Given the description of an element on the screen output the (x, y) to click on. 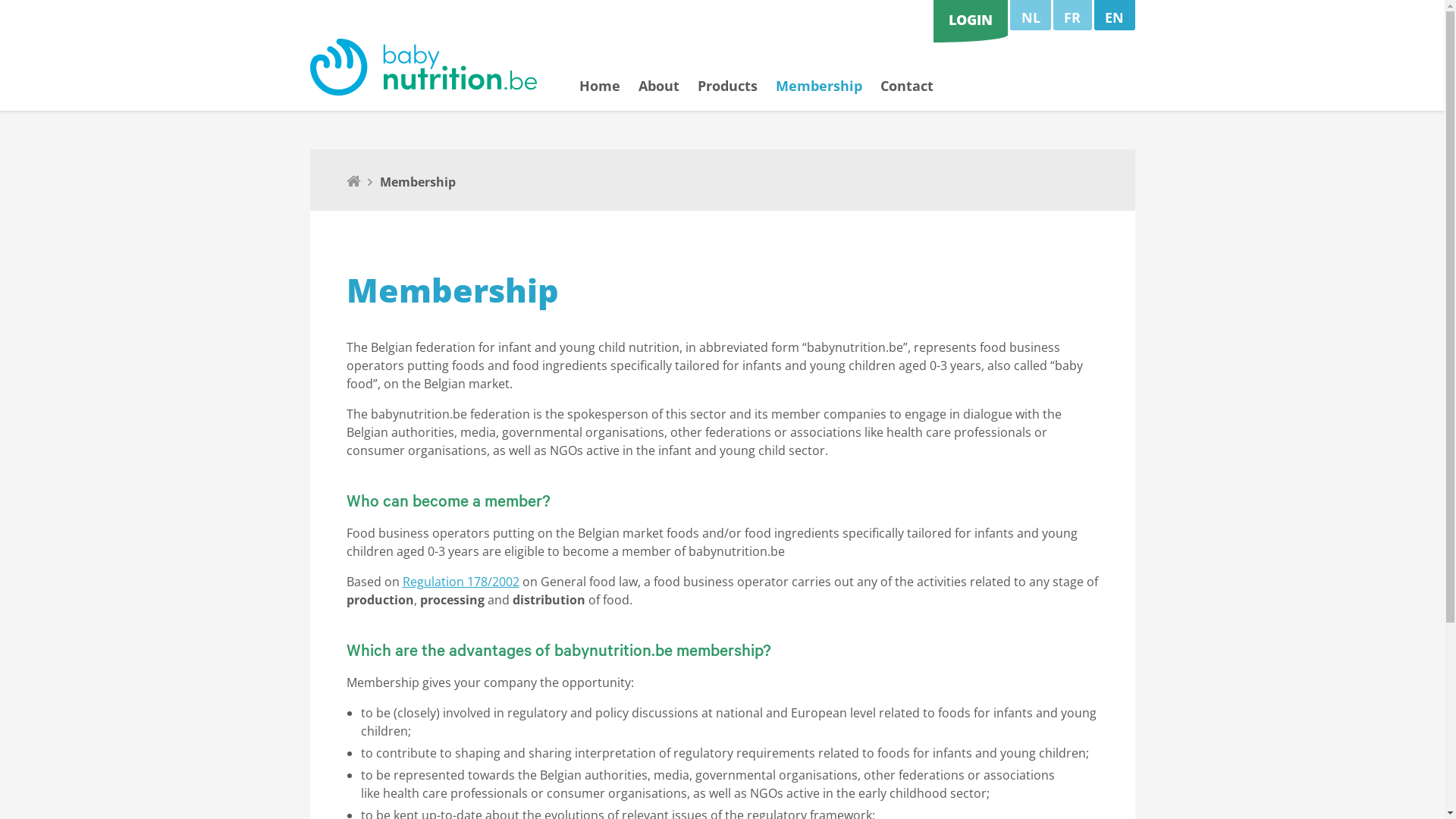
Contact Element type: text (906, 94)
EN Element type: text (1114, 15)
LOGIN Element type: text (970, 19)
NL Element type: text (1030, 15)
Home Element type: text (599, 94)
Products Element type: text (727, 94)
Membership Element type: text (818, 94)
Belgian federation for infants and young child nutrition Element type: text (422, 66)
Regulation 178/2002 Element type: text (459, 581)
About Element type: text (658, 94)
FR Element type: text (1072, 15)
